Given the description of an element on the screen output the (x, y) to click on. 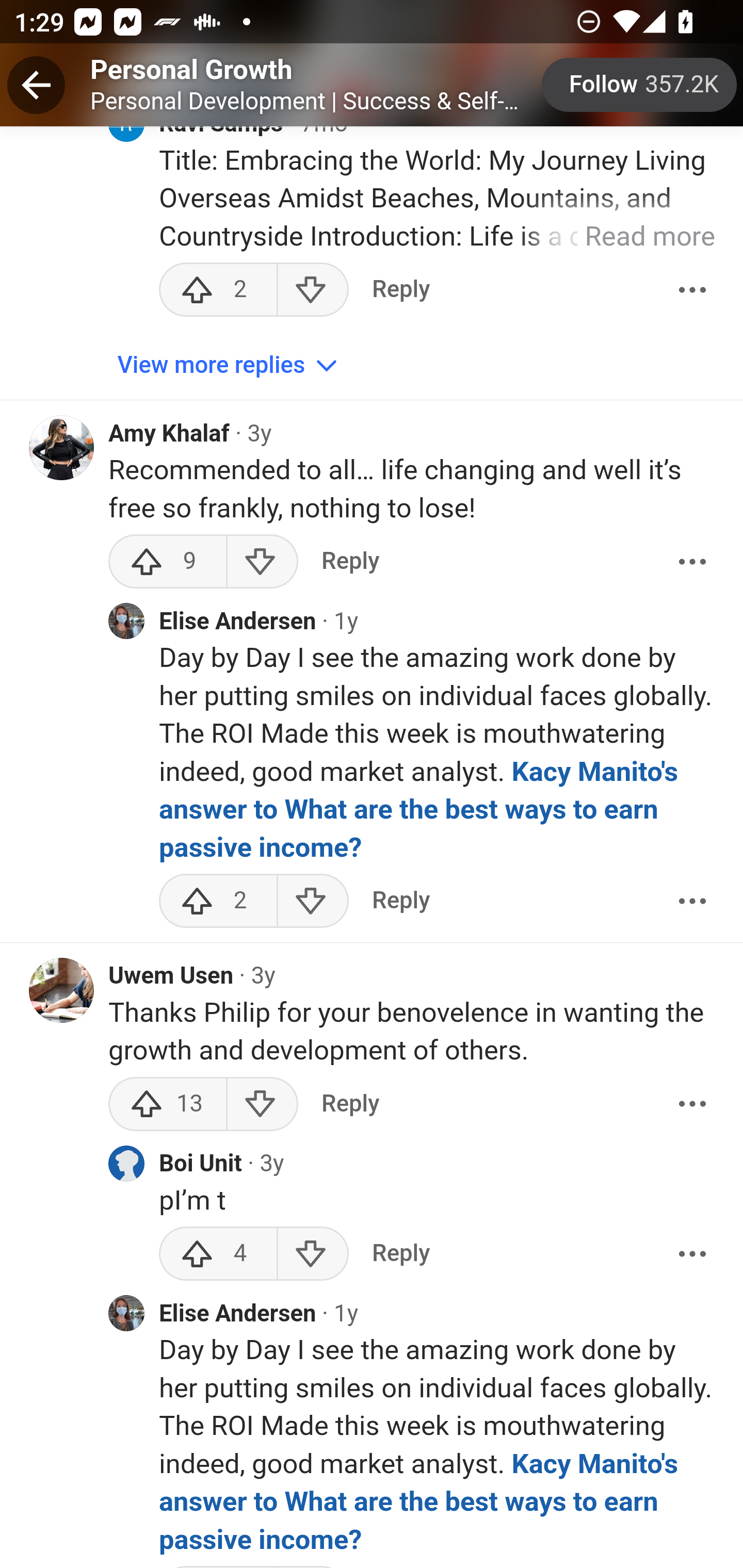
Personal Growth (191, 70)
Follow 357.2K (639, 85)
2 upvotes (218, 291)
Downvote (312, 291)
Reply (400, 291)
More (691, 291)
View more replies (230, 366)
Profile photo for Amy Khalaf (61, 448)
Amy Khalaf (169, 435)
9 upvotes (167, 561)
Downvote (261, 561)
Reply (350, 561)
More (691, 561)
Profile photo for Elise Andersen (126, 622)
Elise Andersen (238, 623)
2 upvotes (218, 901)
Downvote (312, 901)
Reply (400, 901)
More (691, 901)
Profile photo for Uwem Usen (61, 991)
Uwem Usen (171, 976)
13 upvotes (167, 1105)
Downvote (261, 1105)
Reply (350, 1105)
More (691, 1105)
Profile photo for Boi Unit (126, 1164)
Boi Unit (201, 1165)
4 upvotes (218, 1254)
Downvote (312, 1254)
Reply (400, 1254)
More (691, 1254)
Profile photo for Elise Andersen (126, 1315)
Elise Andersen (238, 1315)
